Given the description of an element on the screen output the (x, y) to click on. 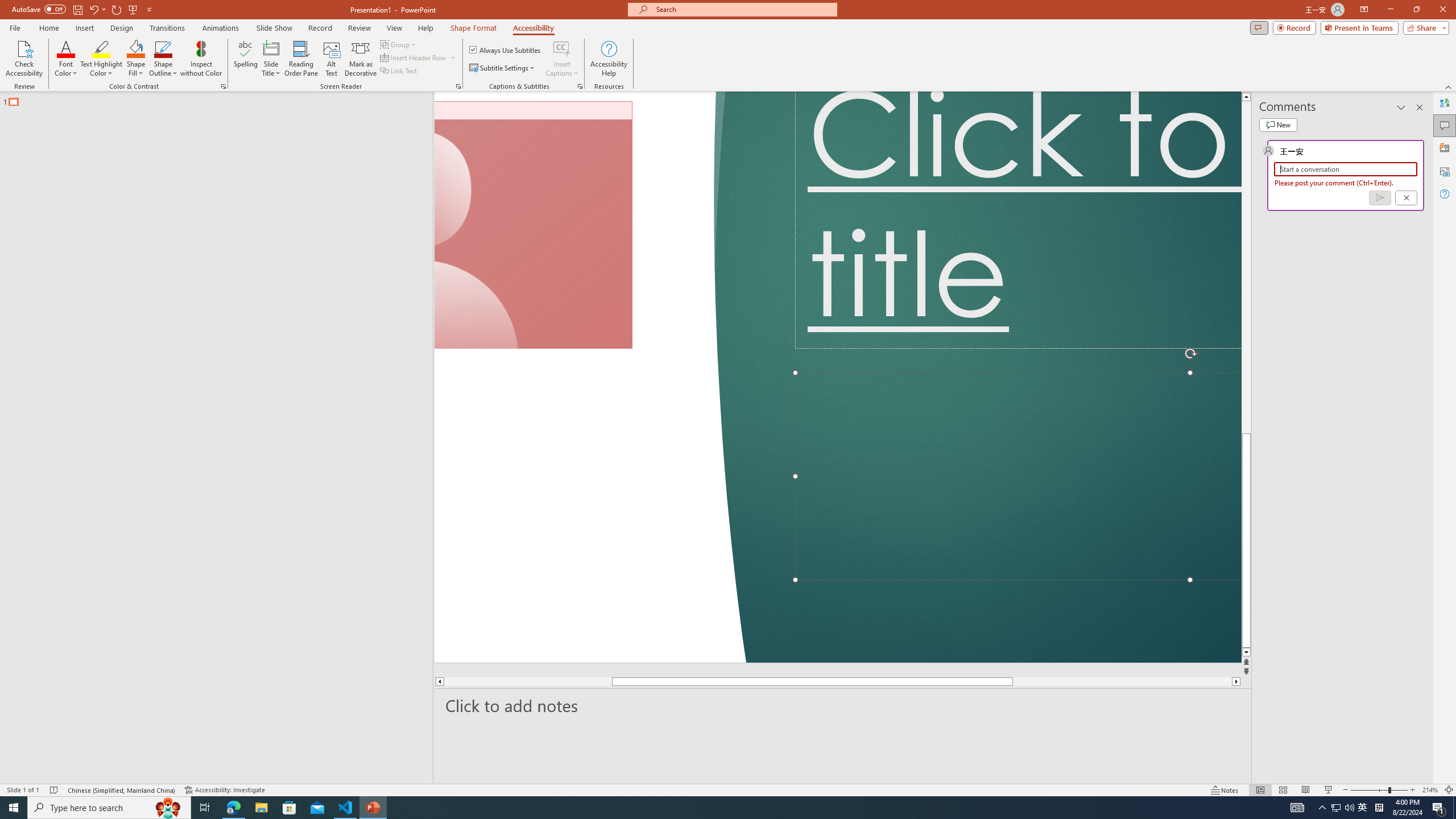
Character Shading (350, 102)
Page Number Page 1 of 1 (30, 773)
Align Left (407, 102)
Accessibility Checker Accessibility: Good to go (358, 773)
Zoom In (1413, 773)
Shading (565, 102)
Justify (474, 102)
Spelling and Grammar Check Checking (122, 773)
Draw (235, 47)
Text Highlight Color Yellow (282, 102)
Enclose Characters... (374, 102)
Italic (120, 102)
Insert (191, 47)
Clear Formatting (328, 77)
